Given the description of an element on the screen output the (x, y) to click on. 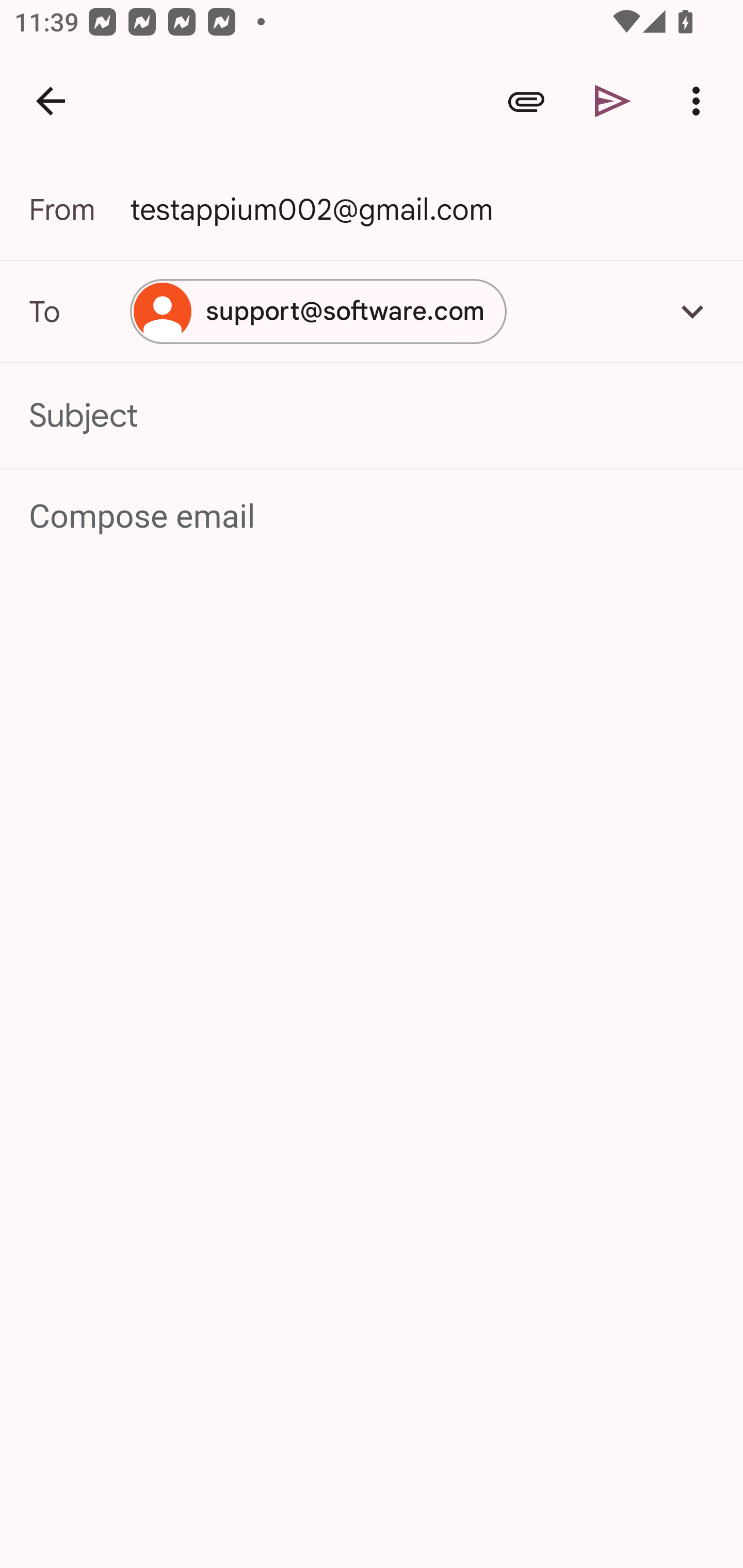
Navigate up (50, 101)
Attach file (525, 101)
Send (612, 101)
More options (699, 101)
From (79, 209)
Add Cc/Bcc (692, 311)
Subject (371, 415)
Compose email (372, 517)
